Given the description of an element on the screen output the (x, y) to click on. 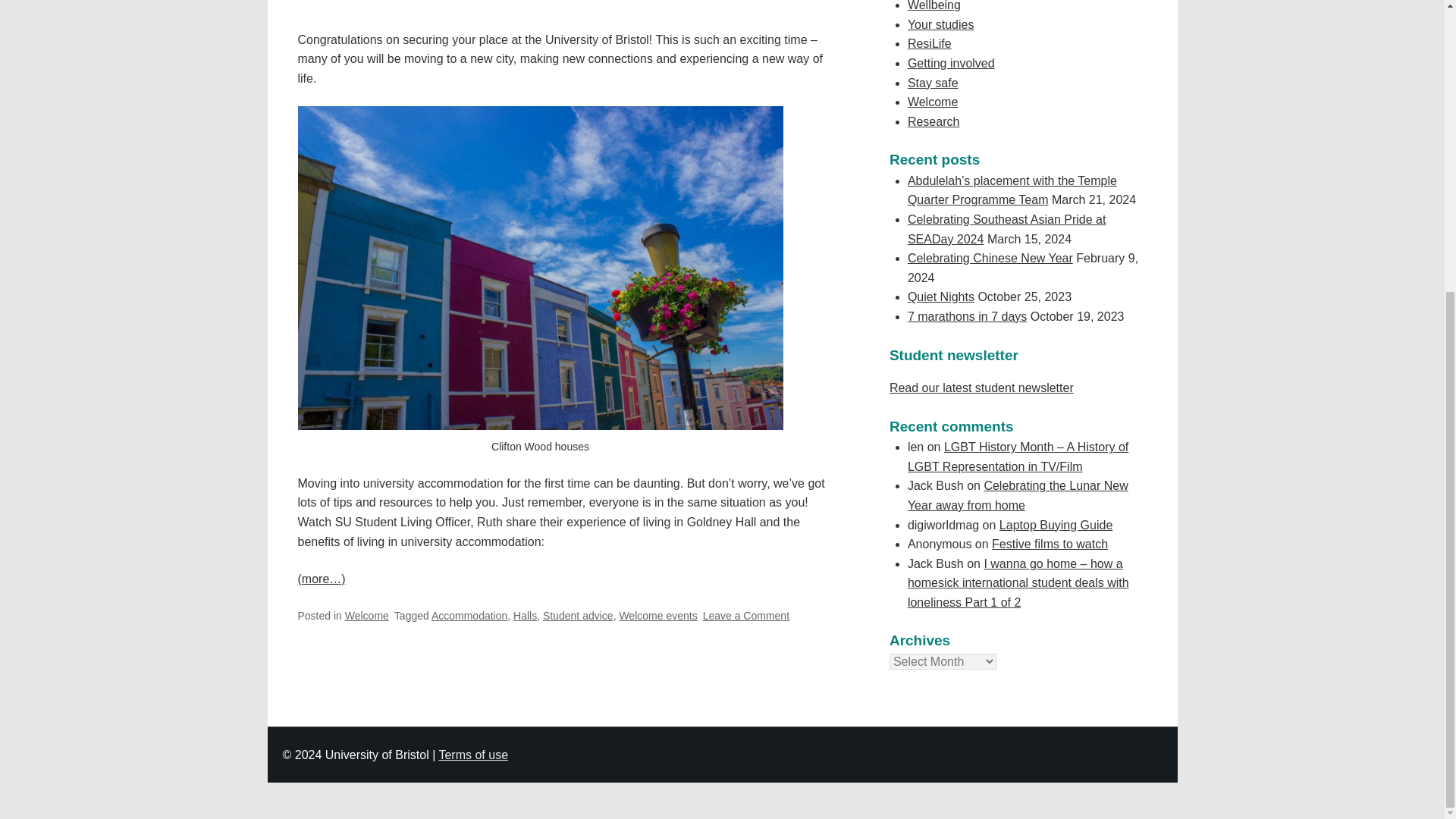
Read our latest student newsletter (981, 387)
Student advice (577, 615)
Accommodation (468, 615)
7 marathons in 7 days (966, 316)
Celebrating the Lunar New Year away from home (1017, 495)
Welcome (366, 615)
Celebrating Southeast Asian Pride at SEADay 2024 (1006, 228)
Celebrating Chinese New Year (990, 257)
Welcome (746, 615)
